Given the description of an element on the screen output the (x, y) to click on. 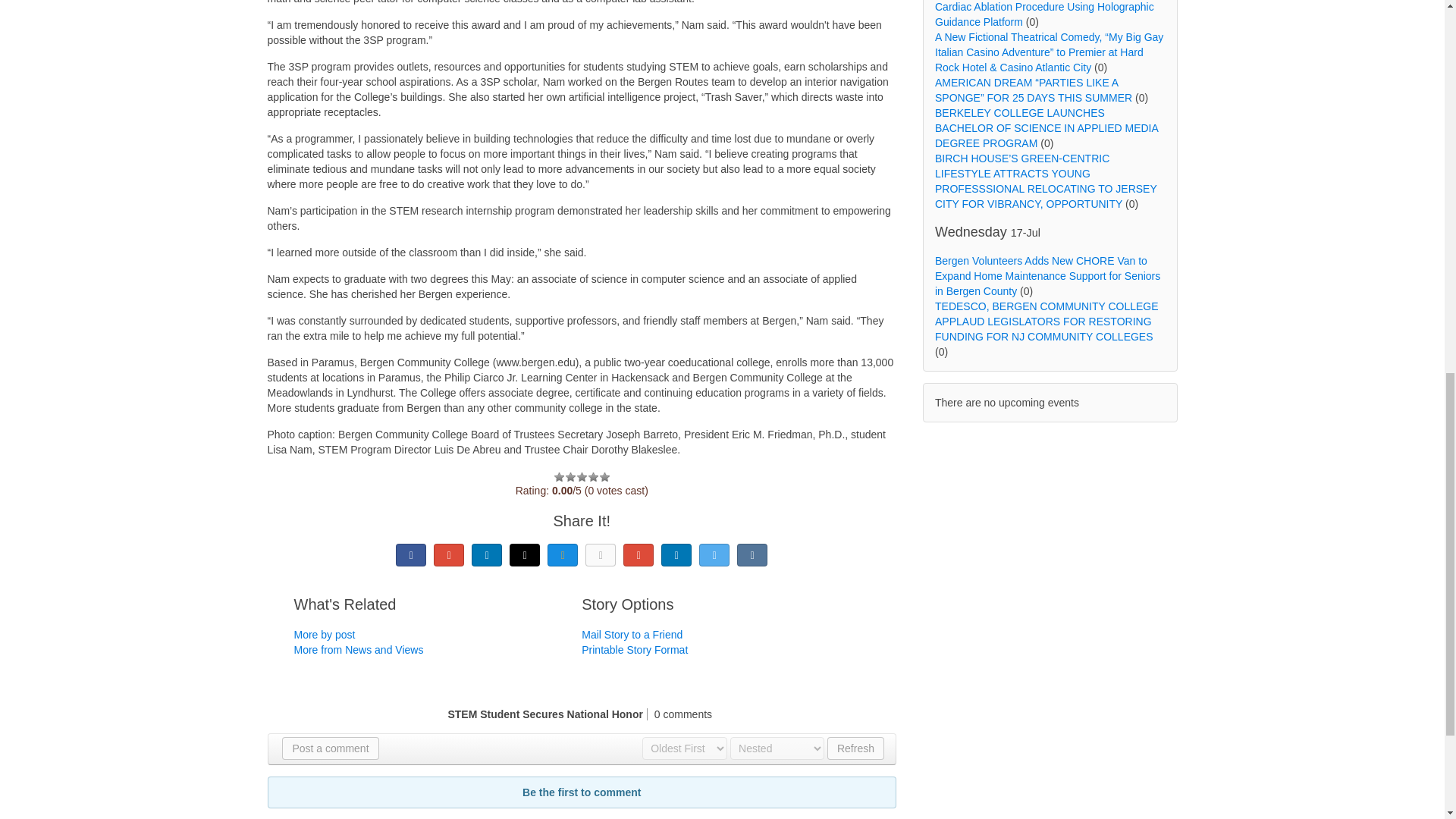
LinkedIn (486, 554)
vk (751, 554)
reddit (676, 554)
Pinterest (638, 554)
More by post (324, 634)
Facebook (411, 554)
Twitter (713, 554)
Live Journal (524, 554)
Odnoklassniki (600, 554)
Mail.ru (562, 554)
